Given the description of an element on the screen output the (x, y) to click on. 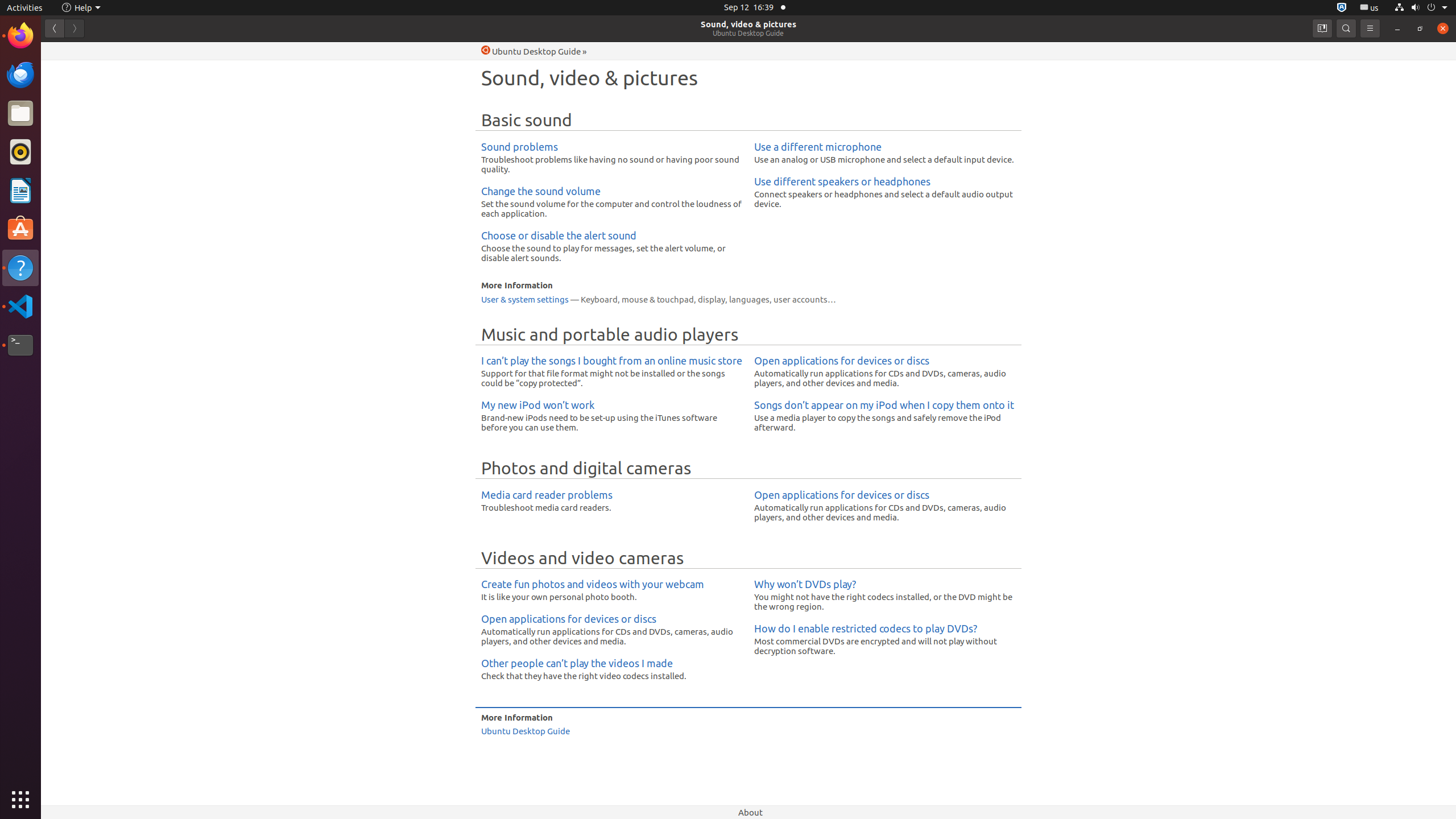
Terminal Element type: push-button (20, 344)
Ubuntu Desktop Guide Element type: label (748, 33)
